Given the description of an element on the screen output the (x, y) to click on. 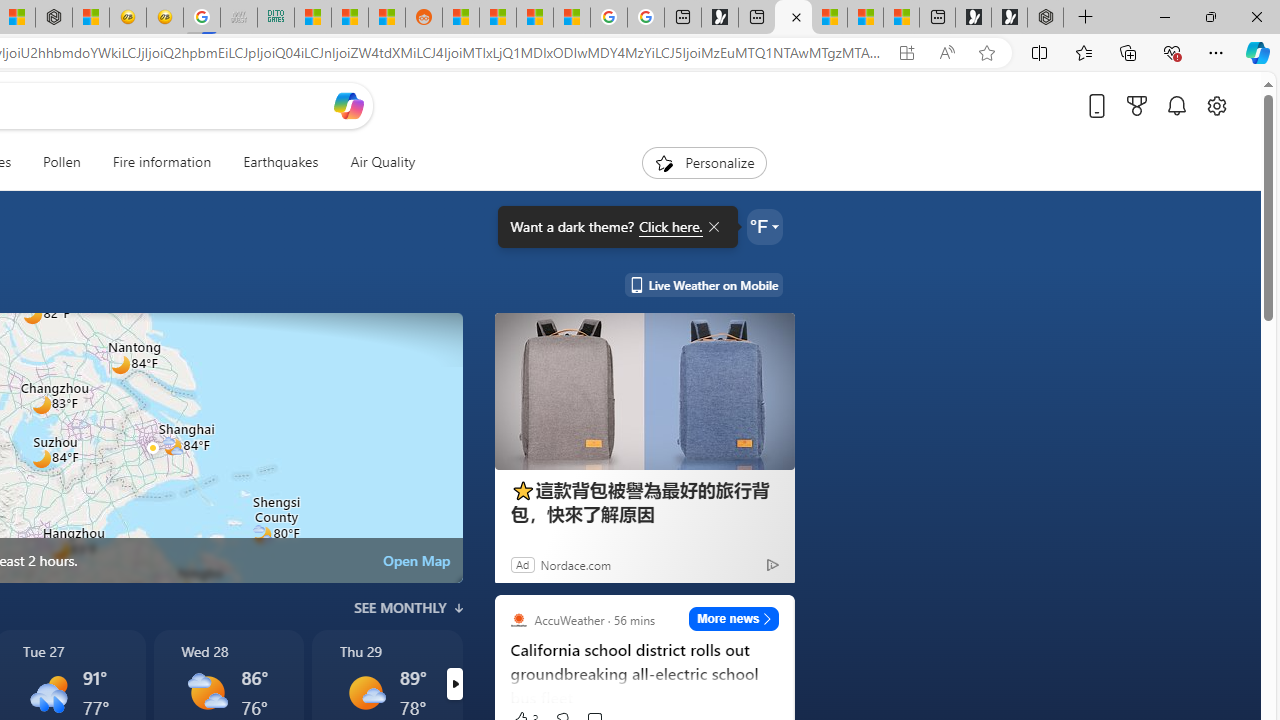
Mostly sunny (365, 692)
Ad Choice (772, 564)
Play Free Online Games | Games from Microsoft Start (1009, 17)
Air Quality (375, 162)
App available. Install Microsoft Start Weather (906, 53)
Earthquakes (280, 162)
Open settings (1216, 105)
Pollen (61, 162)
Nordace.com (575, 564)
